Given the description of an element on the screen output the (x, y) to click on. 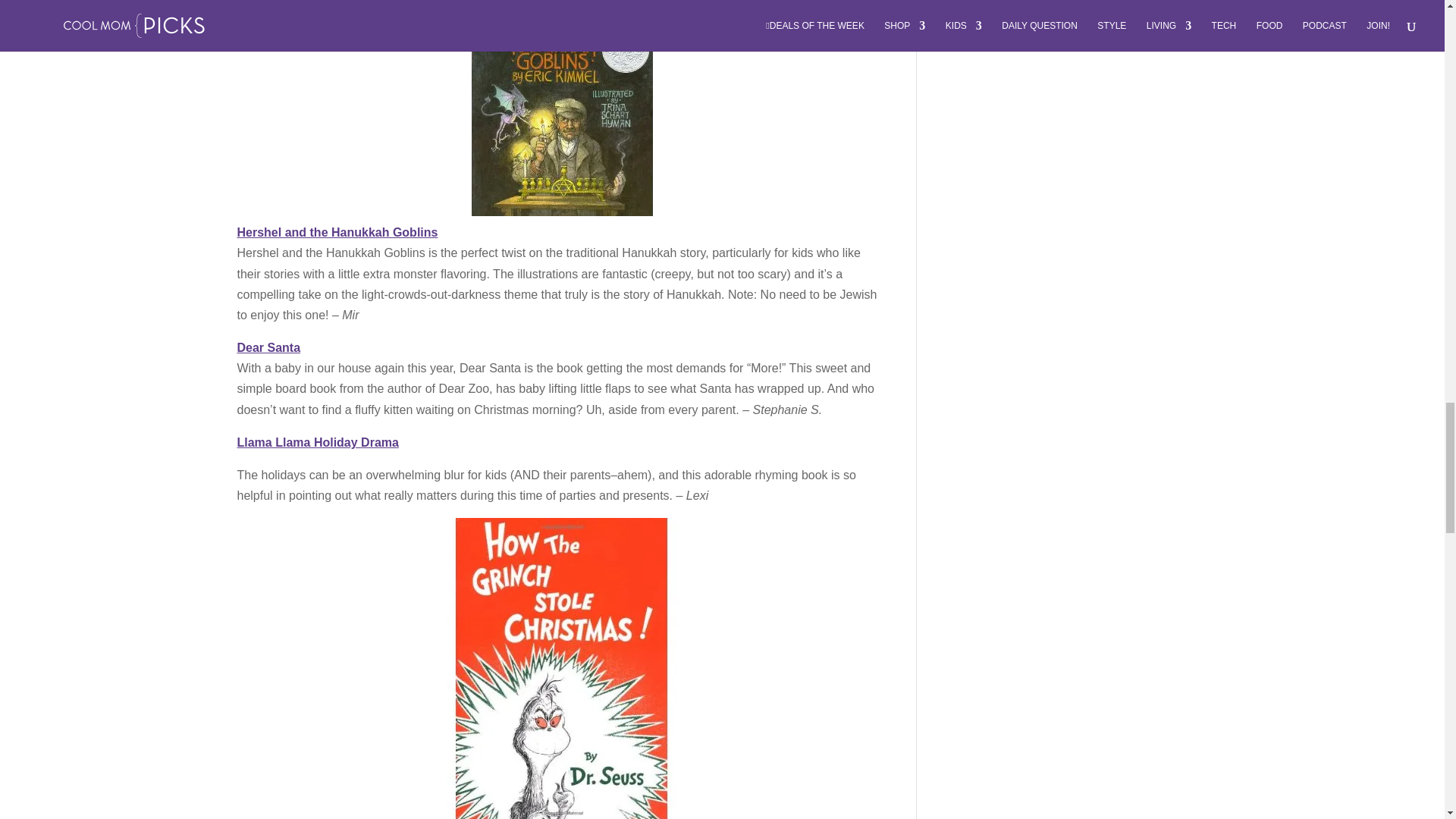
Favorite holiday books: Dear Santa (267, 347)
Favorite holiday books: Hershel and the Hanukkah Goblins (561, 108)
Llama Llama Holiday Drama (316, 441)
Hershel and the Hanukkah Goblins (336, 232)
